Given the description of an element on the screen output the (x, y) to click on. 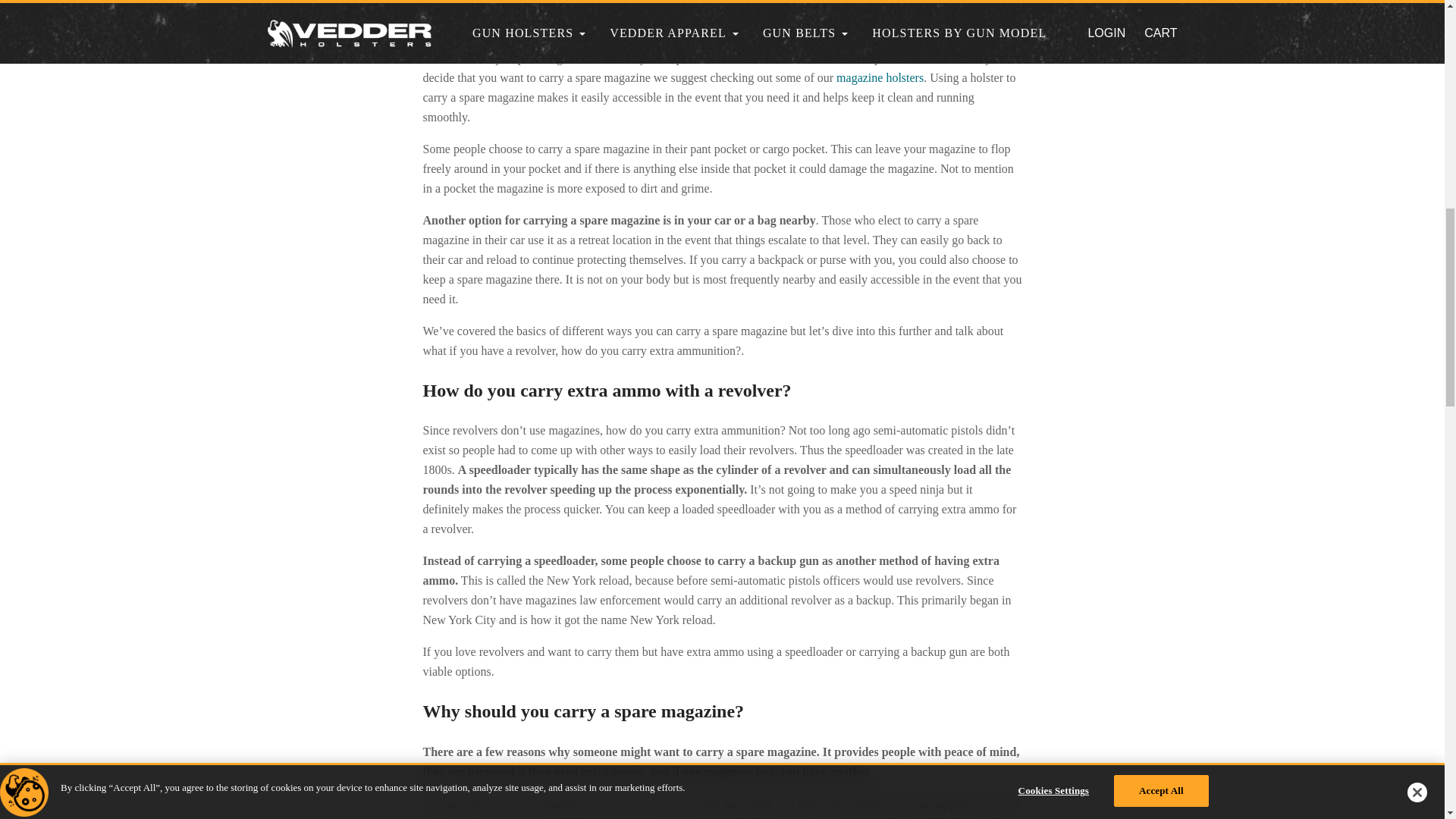
magazine holsters (879, 77)
